Given the description of an element on the screen output the (x, y) to click on. 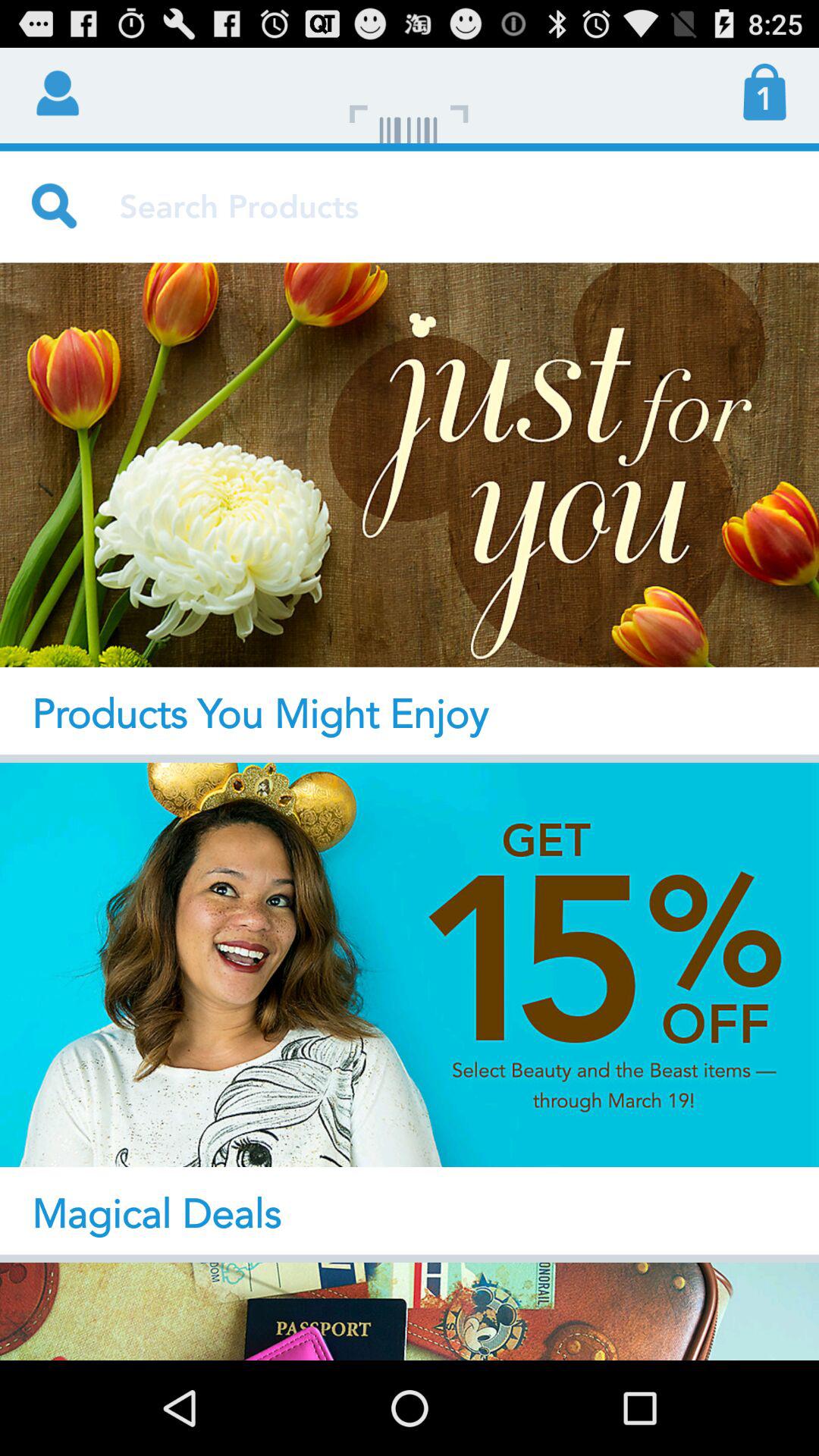
launch app next to 1 icon (409, 95)
